Given the description of an element on the screen output the (x, y) to click on. 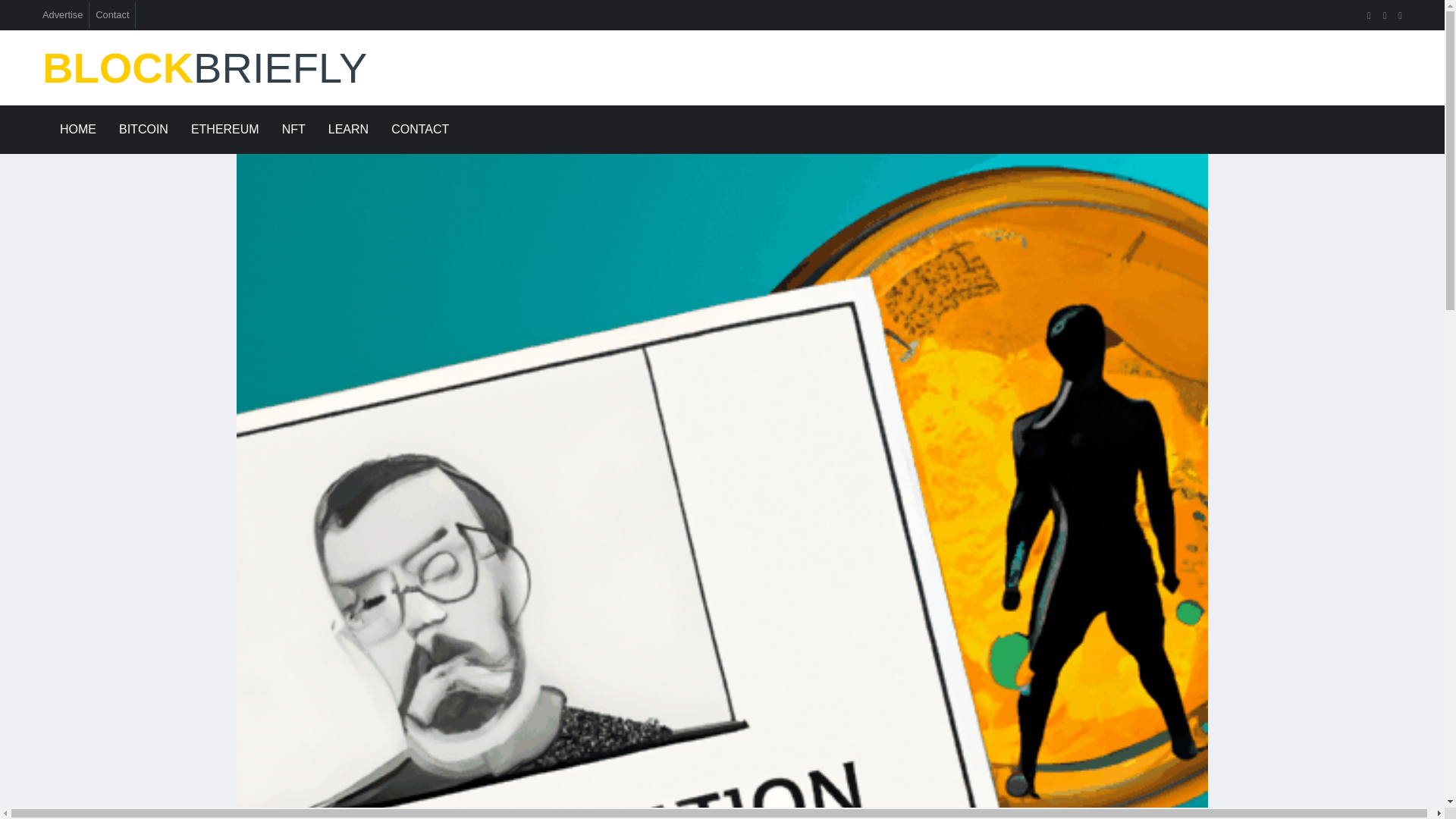
Advertise (62, 14)
LEARN (348, 129)
Contact (111, 14)
CONTACT (420, 129)
ETHEREUM (224, 129)
BITCOIN (143, 129)
BLOCKBRIEFLY (259, 67)
HOME (77, 129)
NFT (293, 129)
